Given the description of an element on the screen output the (x, y) to click on. 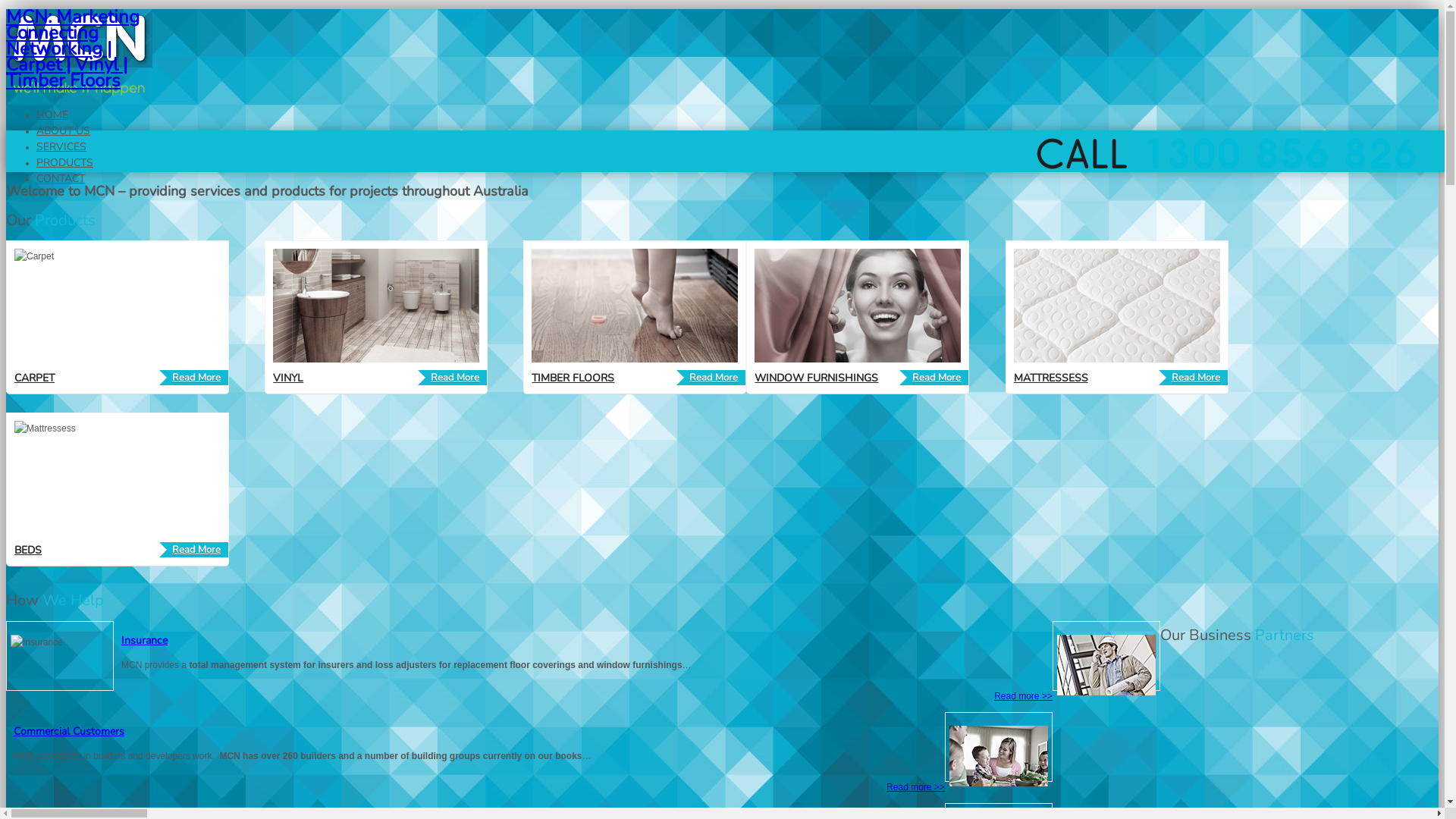
MATTRESSESS Element type: text (1050, 377)
CONTACT Element type: text (60, 178)
Insurance Element type: text (144, 640)
Read More Element type: text (1192, 377)
Read More Element type: text (933, 377)
HOME Element type: text (52, 114)
Read More Element type: text (193, 377)
WINDOW FURNISHINGS Element type: text (816, 377)
Read More Element type: text (451, 377)
Read more >> Element type: text (1023, 696)
VINYL Element type: text (288, 377)
Commercial Customers Element type: text (68, 731)
SERVICES Element type: text (61, 146)
BEDS Element type: text (27, 549)
Read More Element type: text (710, 377)
PRODUCTS Element type: text (64, 162)
CARPET Element type: text (34, 377)
Read More Element type: text (193, 549)
Read more >> Element type: text (915, 787)
TIMBER FLOORS Element type: text (572, 377)
ABOUT US Element type: text (63, 130)
